Given the description of an element on the screen output the (x, y) to click on. 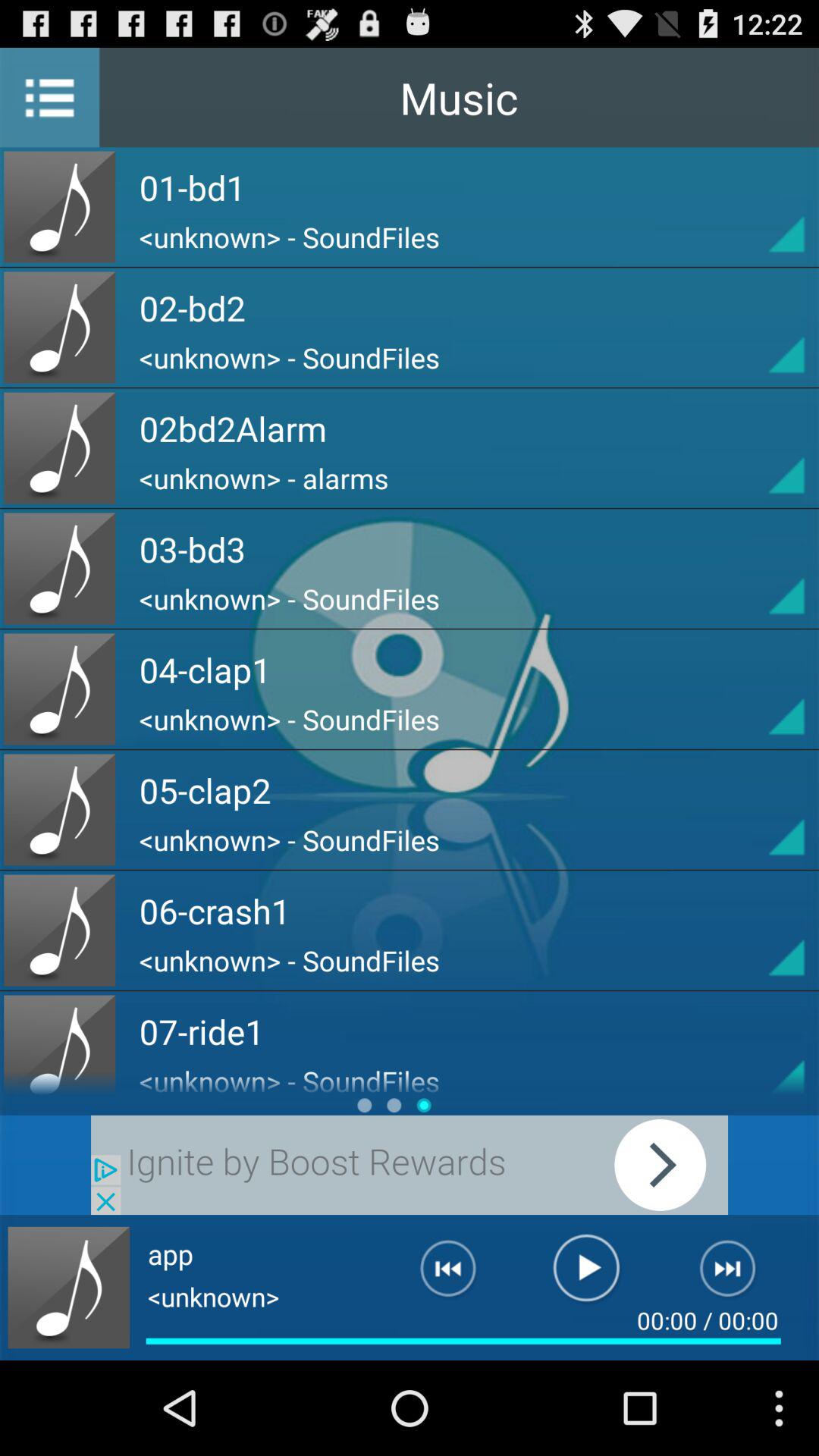
play music (586, 1274)
